Given the description of an element on the screen output the (x, y) to click on. 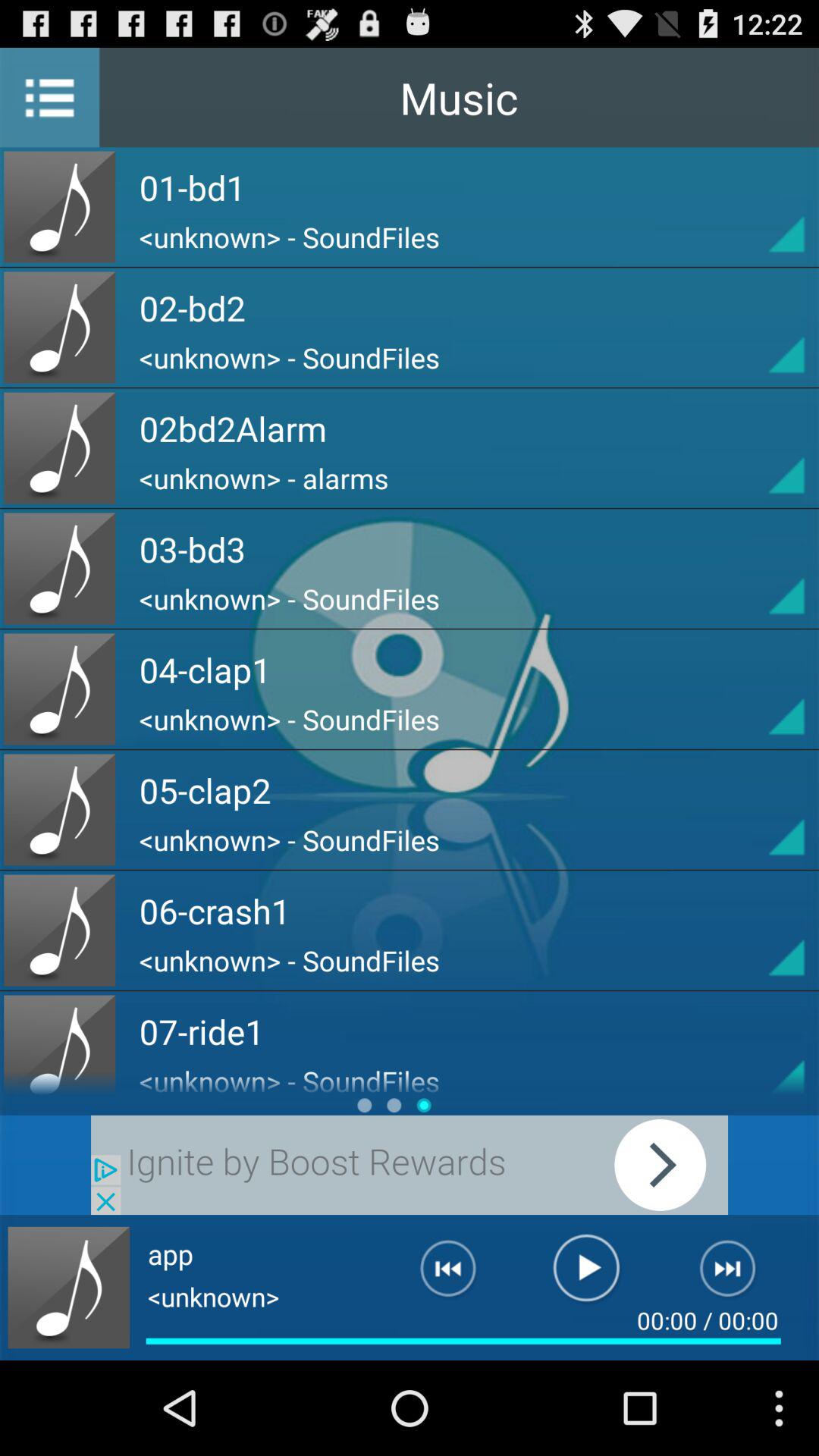
play music (586, 1274)
